Given the description of an element on the screen output the (x, y) to click on. 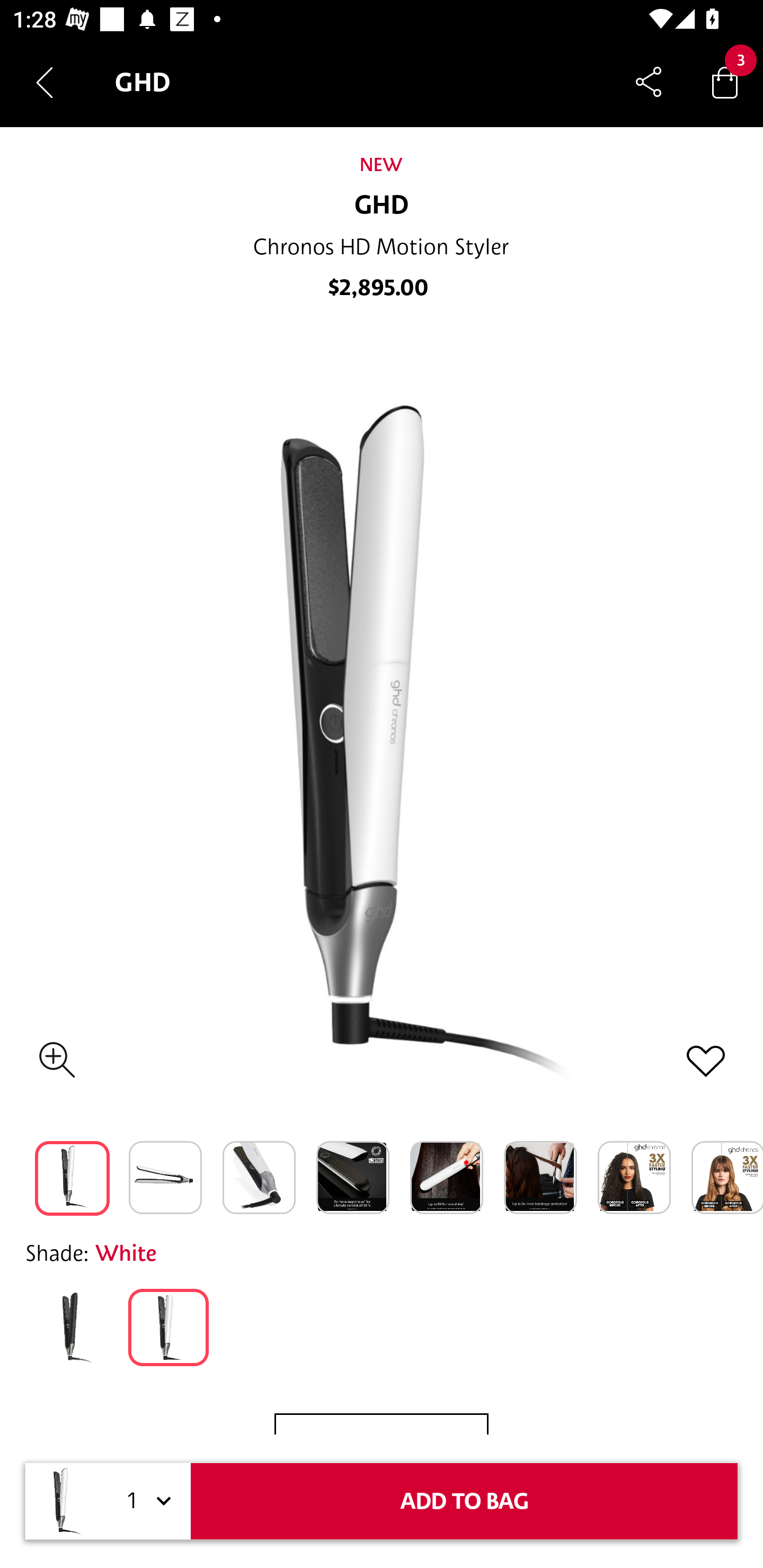
Navigate up (44, 82)
Share (648, 81)
Bag (724, 81)
GHD (381, 205)
1 (145, 1500)
ADD TO BAG (463, 1500)
